Given the description of an element on the screen output the (x, y) to click on. 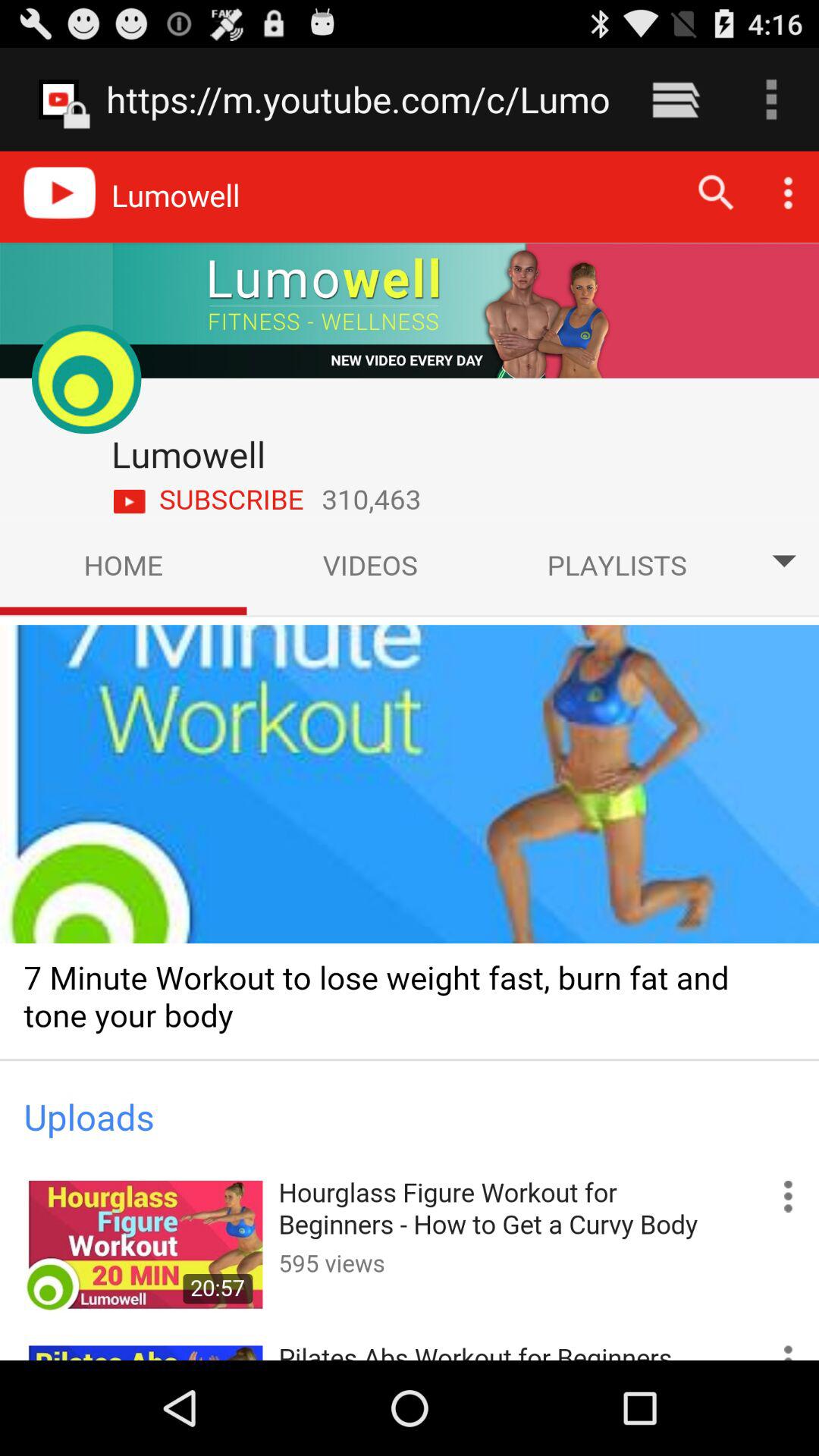
click the item at the top (357, 99)
